Given the description of an element on the screen output the (x, y) to click on. 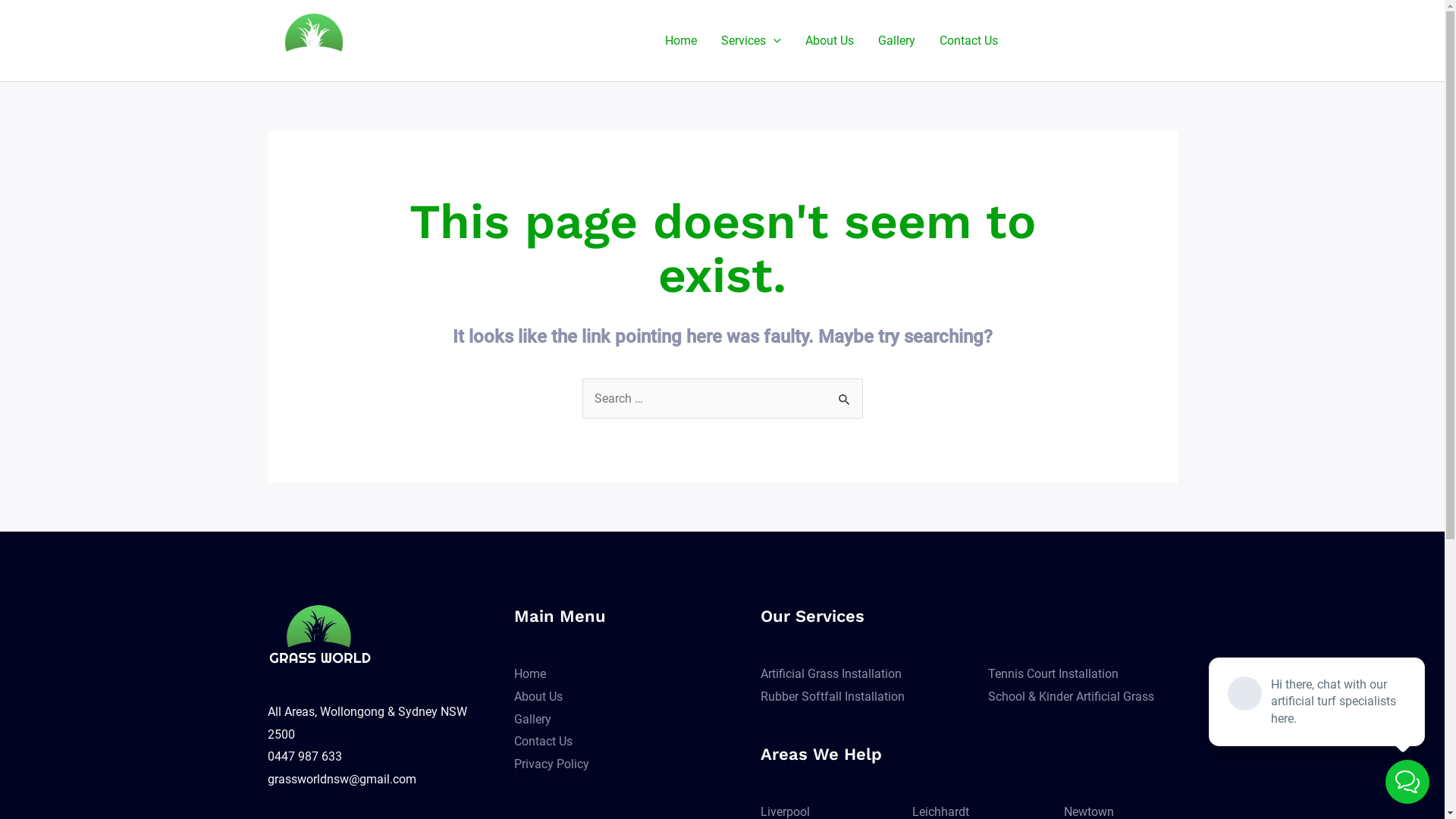
Search Element type: text (845, 394)
About Us Element type: text (829, 39)
Artificial Grass Installation Element type: text (829, 673)
School & Kinder Artificial Grass Element type: text (1070, 696)
About Us Element type: text (538, 696)
Gallery Element type: text (896, 39)
Gallery Element type: text (532, 719)
Contact Us Element type: text (543, 741)
Home Element type: text (680, 39)
Rubber Softfall Installation Element type: text (831, 696)
Home Element type: text (530, 673)
Privacy Policy Element type: text (551, 763)
Services Element type: text (751, 39)
Contact Us Element type: text (967, 39)
Tennis Court Installation Element type: text (1052, 673)
